Given the description of an element on the screen output the (x, y) to click on. 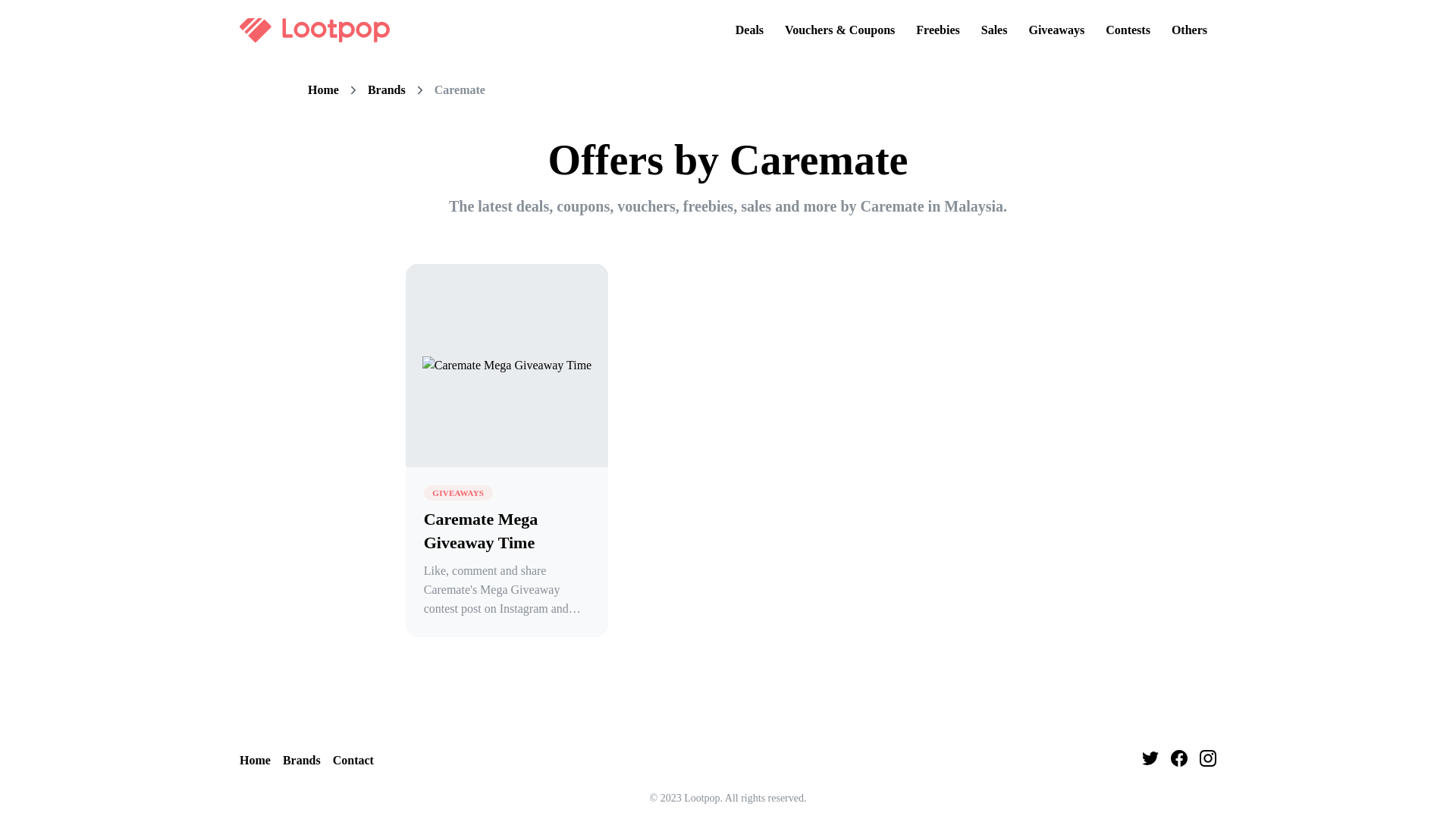
Freebies (937, 30)
Sales (994, 30)
Others (1188, 30)
Brands (301, 760)
Home (323, 90)
Giveaways (1056, 30)
Deals (749, 30)
Contests (1127, 30)
Contact (353, 760)
Brands (387, 90)
Home (255, 760)
